Given the description of an element on the screen output the (x, y) to click on. 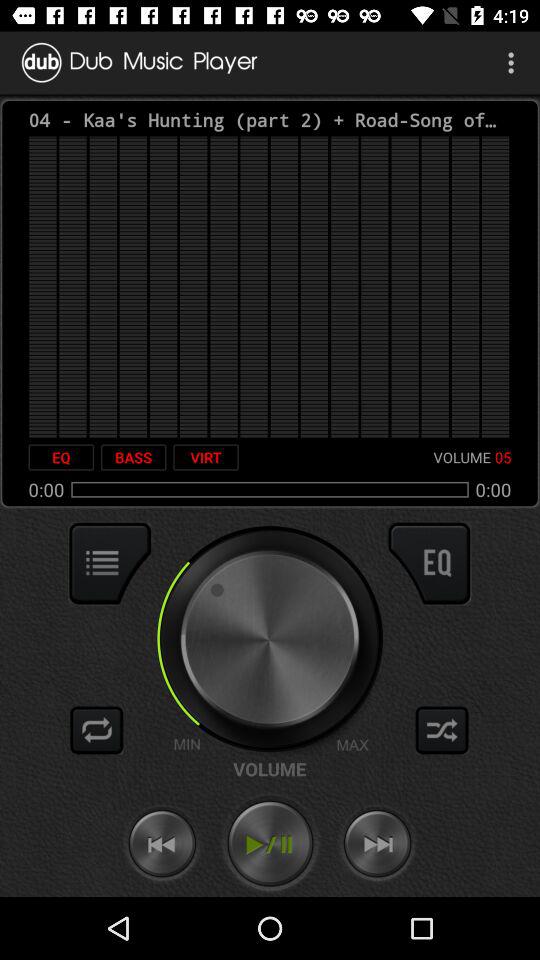
select the icon next to   eq   item (133, 457)
